Given the description of an element on the screen output the (x, y) to click on. 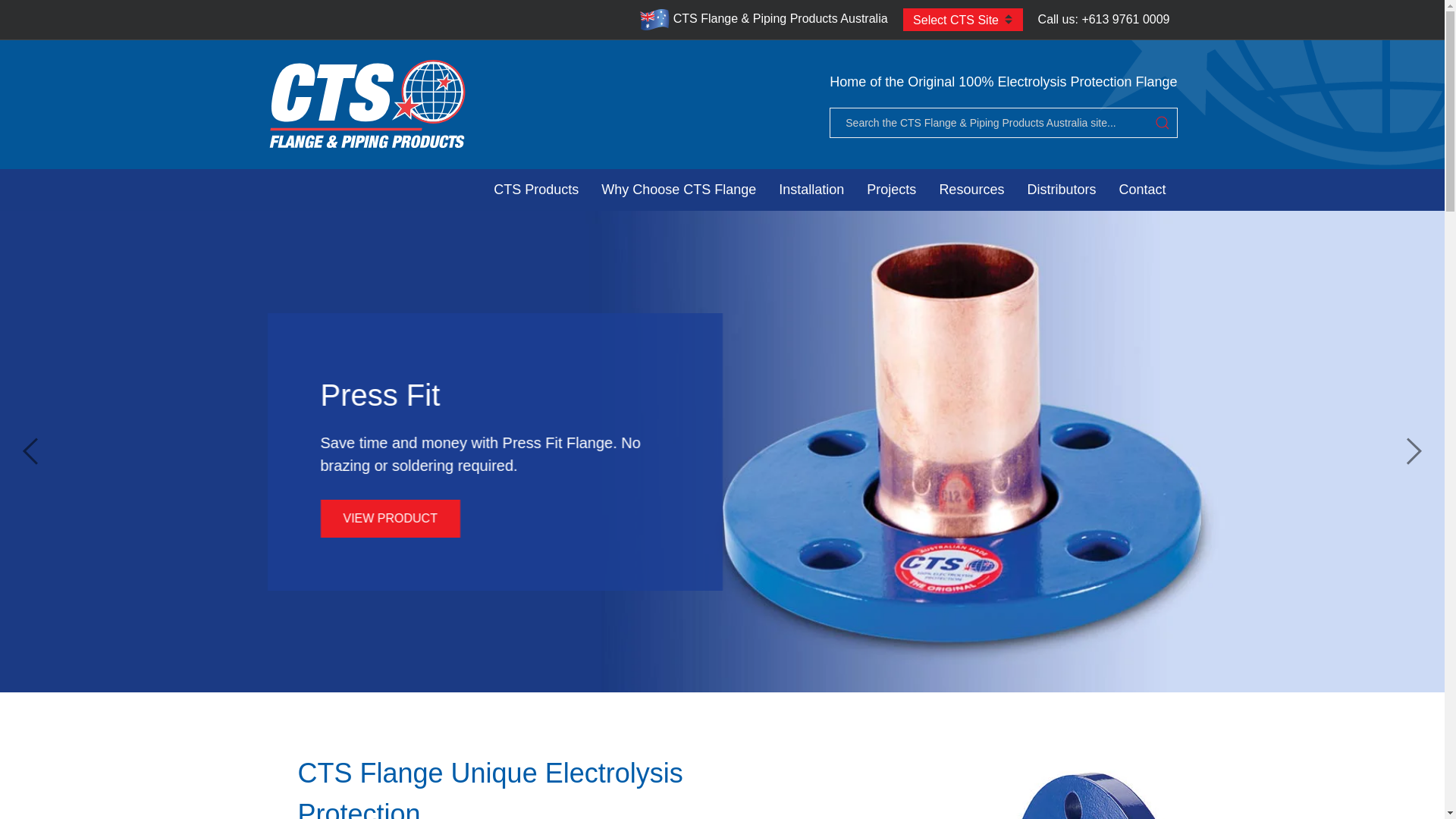
Projects Element type: text (891, 189)
+613 9761 0009 Element type: text (1125, 18)
Why Choose CTS Flange Element type: text (678, 189)
Distributors Element type: text (1061, 189)
VIEW PRODUCT Element type: text (389, 517)
Contact Element type: text (1141, 189)
Installation Element type: text (811, 189)
Resources Element type: text (971, 189)
CTS Products Element type: text (535, 189)
